Given the description of an element on the screen output the (x, y) to click on. 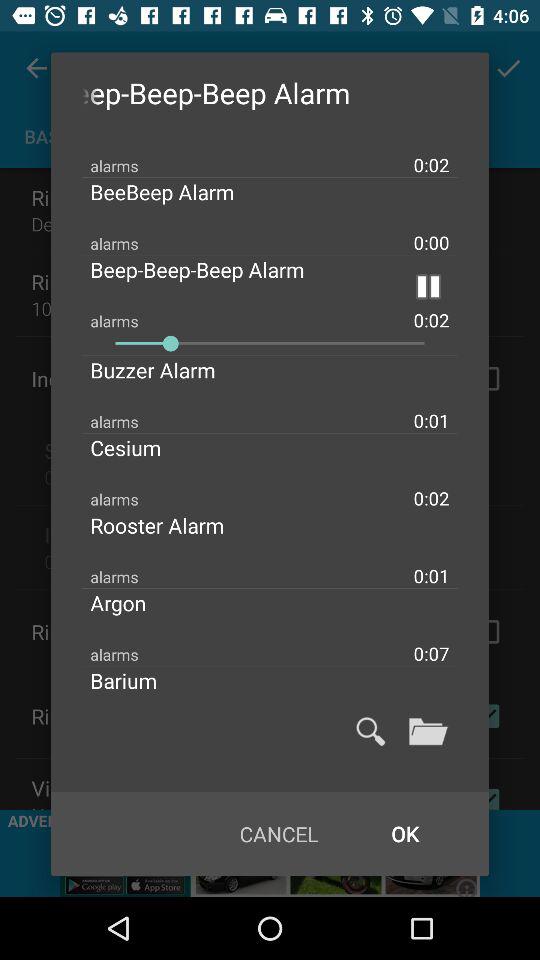
launch the item above 0:02 (428, 286)
